Given the description of an element on the screen output the (x, y) to click on. 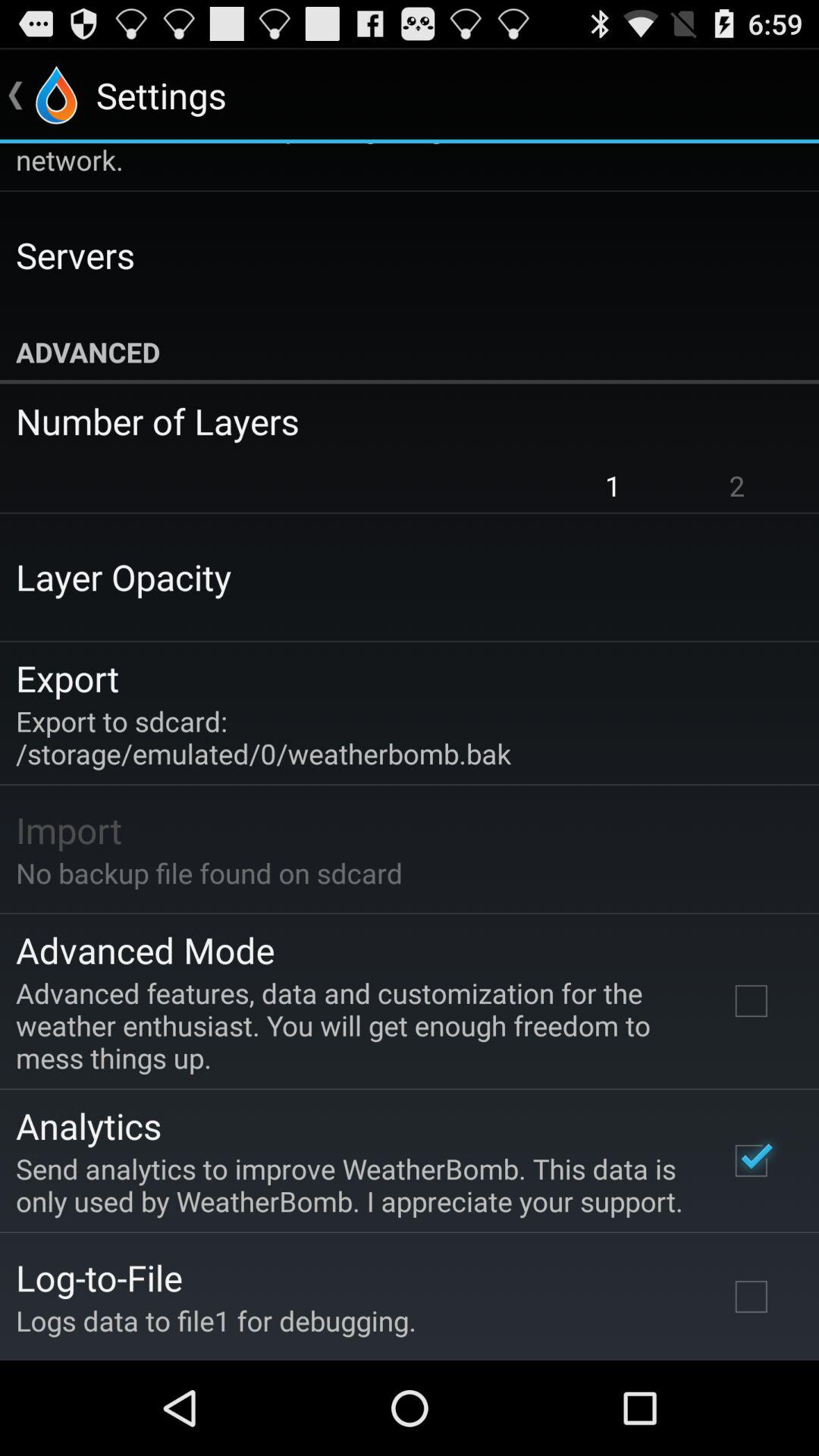
select the advanced features data (351, 1025)
